Given the description of an element on the screen output the (x, y) to click on. 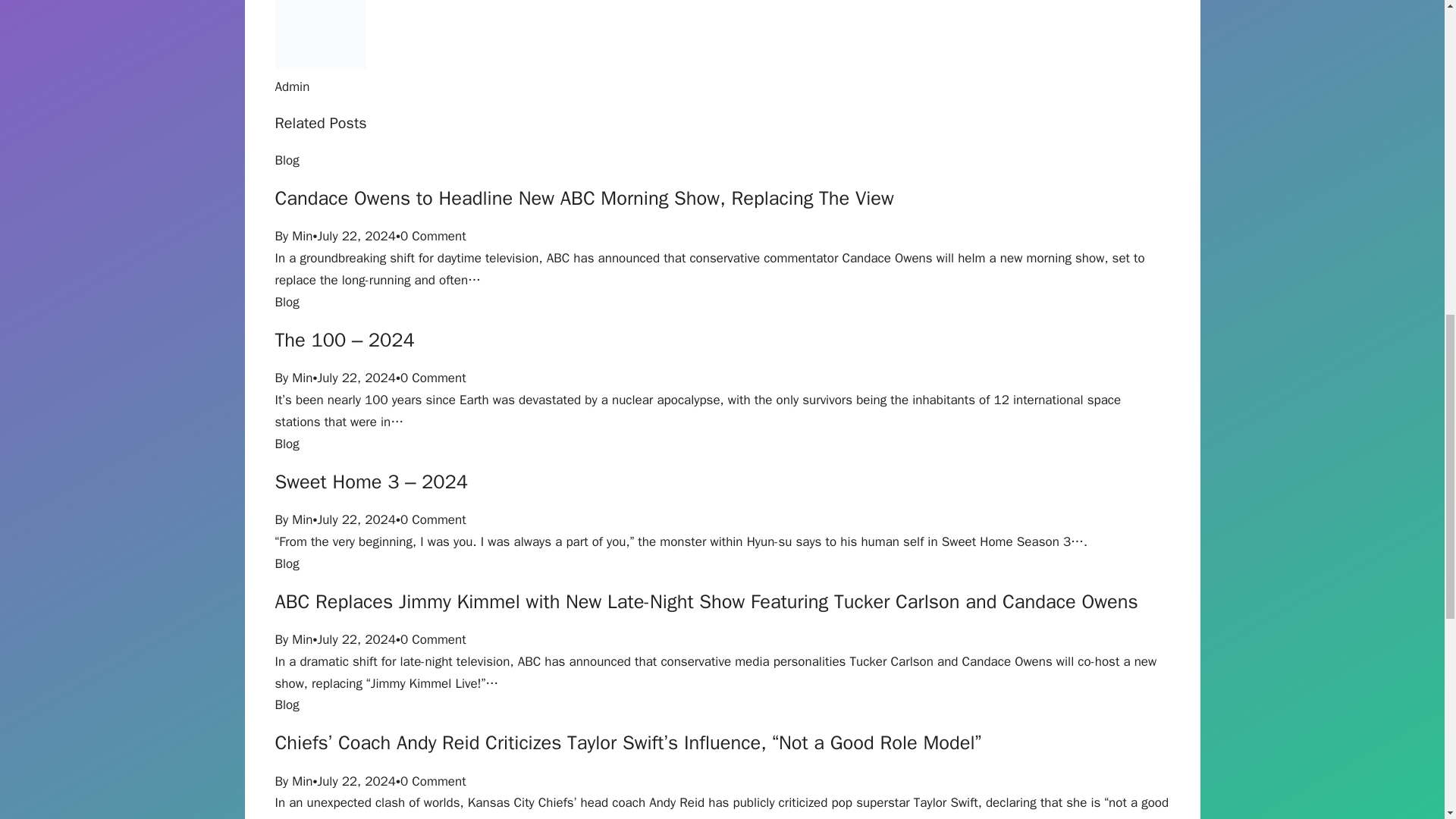
0 Comment (432, 781)
Blog (286, 704)
Posts by Min (302, 781)
0 Comment (432, 236)
Posts by Min (302, 377)
Min (302, 519)
Blog (286, 443)
0 Comment (432, 377)
Blog (286, 302)
Admin (291, 86)
Min (302, 639)
0 Comment (432, 639)
Blog (286, 563)
Min (302, 377)
Min (302, 781)
